Given the description of an element on the screen output the (x, y) to click on. 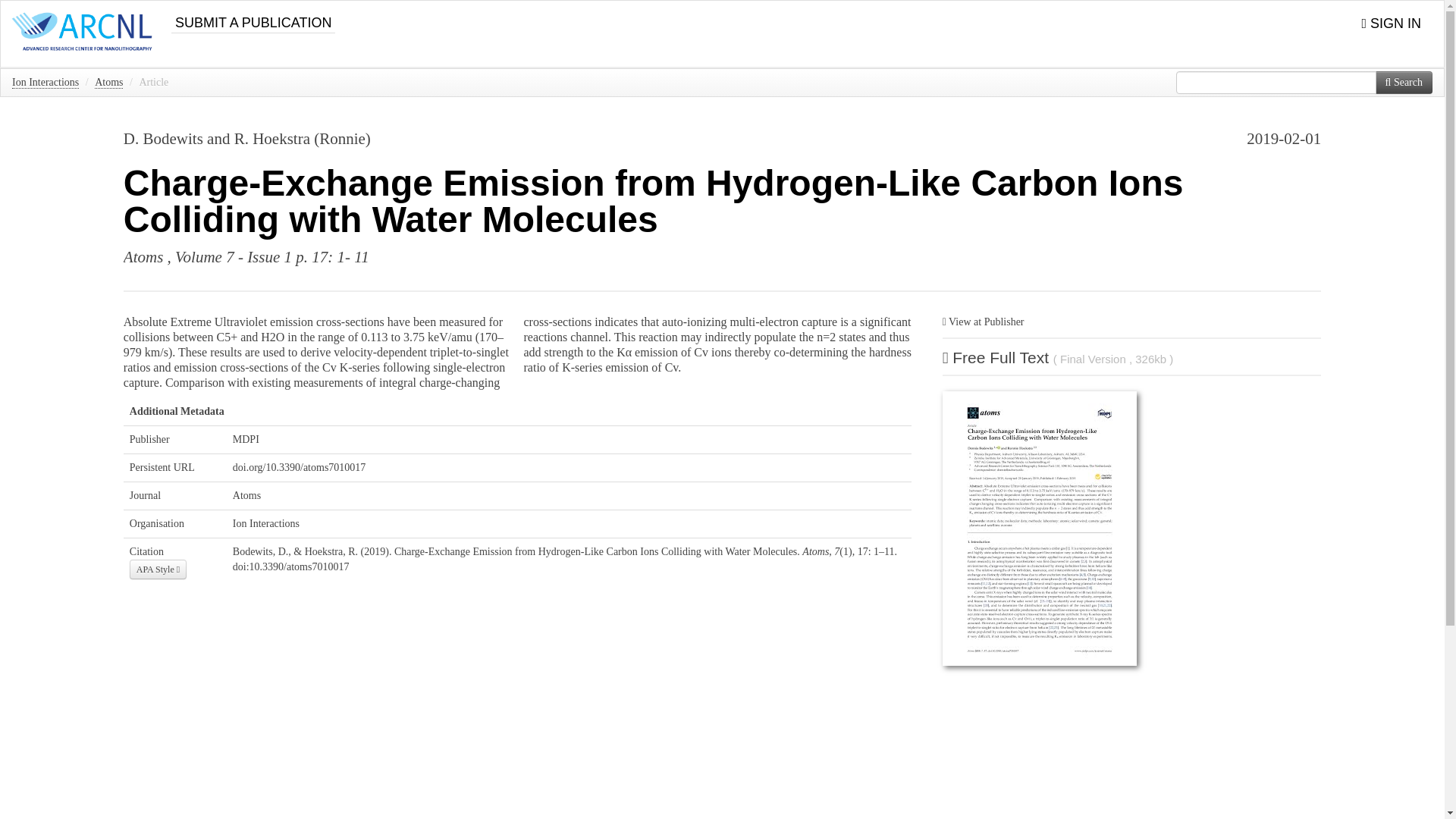
SUBMIT A PUBLICATION (252, 16)
Ion Interactions (265, 523)
View at Publisher (983, 321)
Atoms (246, 495)
Ion Interactions (44, 82)
D. Bodewits (163, 138)
SIGN IN (1391, 23)
APA Style (157, 569)
Search (1403, 82)
MDPI (245, 439)
